Given the description of an element on the screen output the (x, y) to click on. 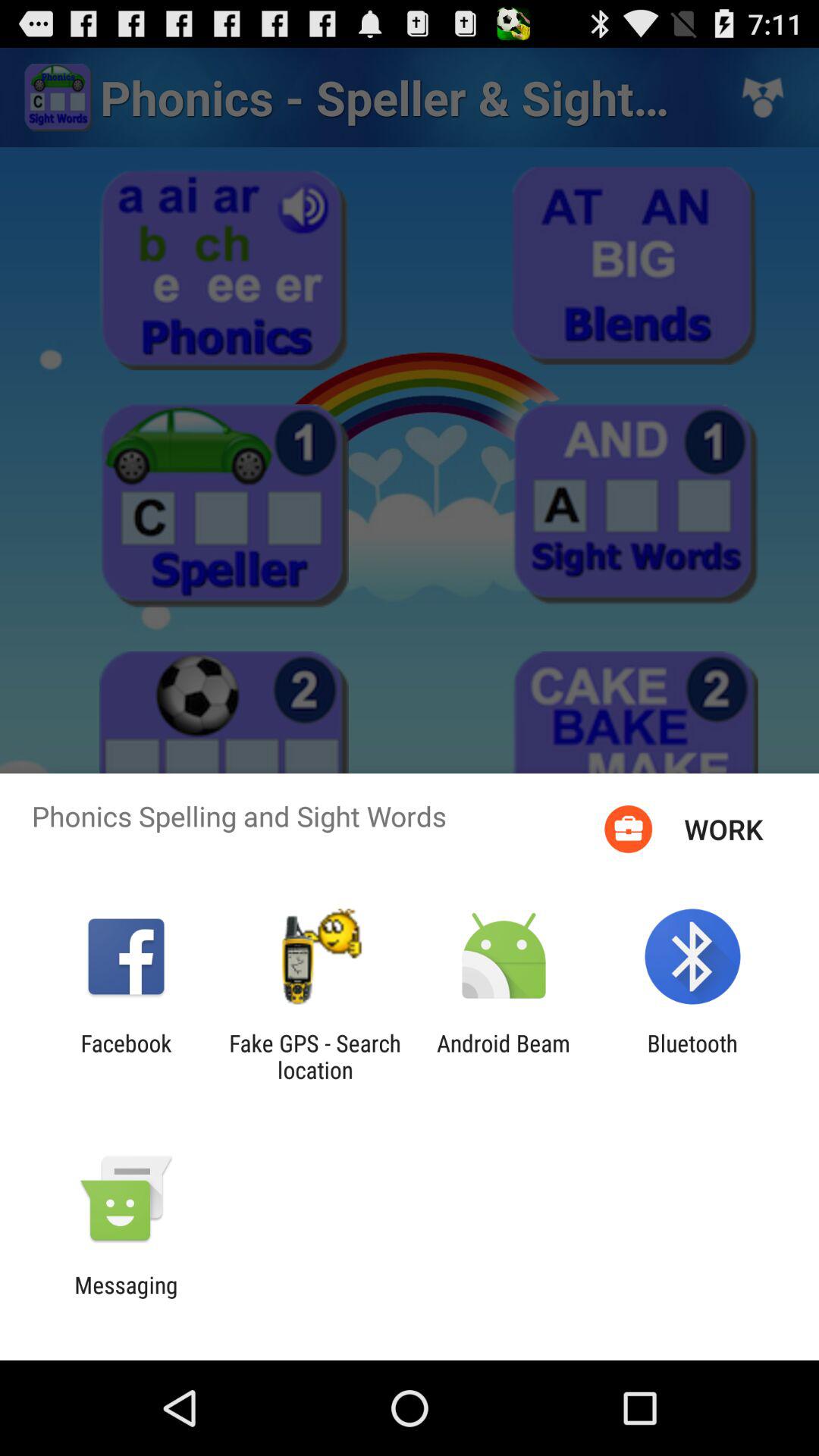
turn off the app next to fake gps search (125, 1056)
